Given the description of an element on the screen output the (x, y) to click on. 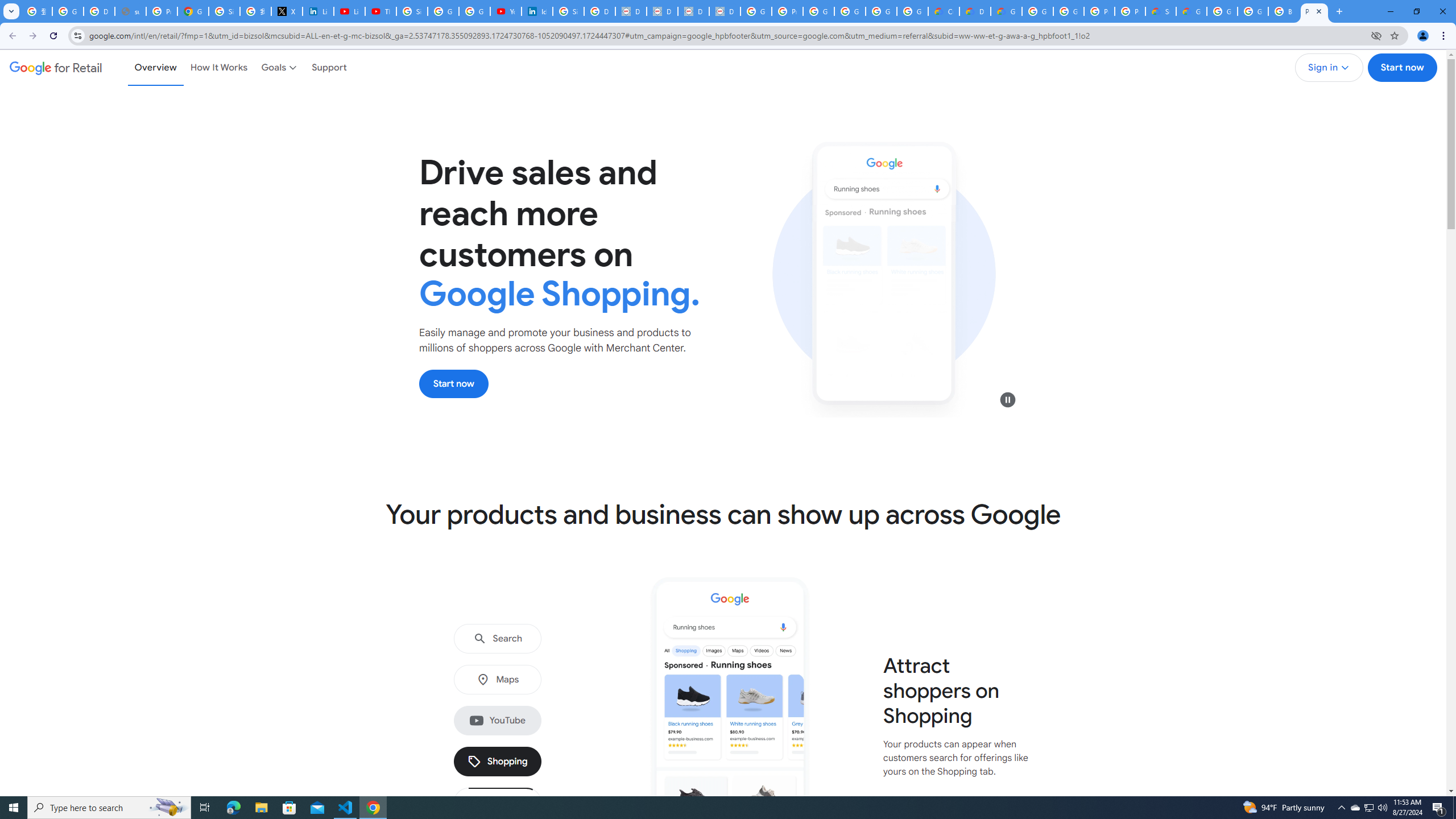
Data Privacy Framework (631, 11)
Privacy Help Center - Policies Help (161, 11)
X (286, 11)
Data Privacy Framework (662, 11)
Support (328, 67)
Shopping (497, 761)
How It Works (218, 67)
